Given the description of an element on the screen output the (x, y) to click on. 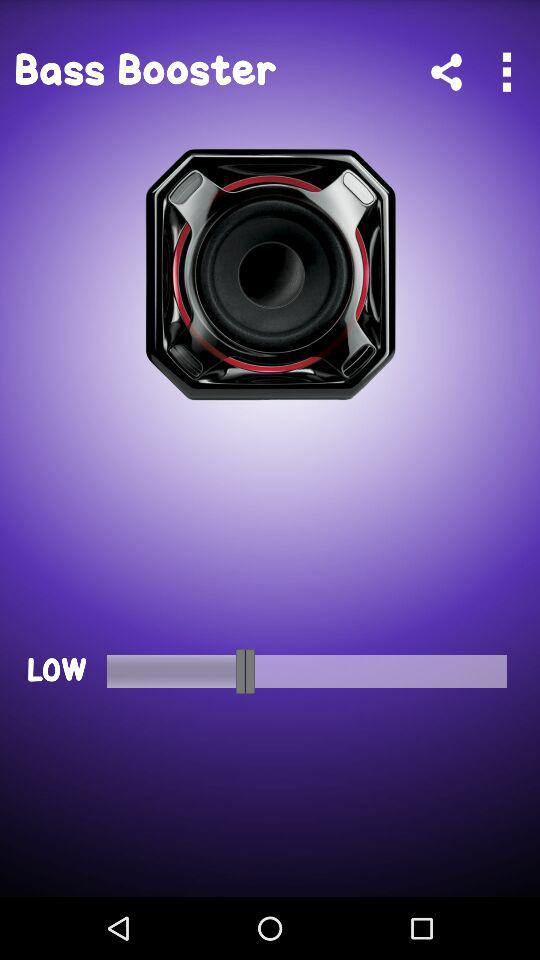
tap the icon below bass booster app (269, 275)
